Given the description of an element on the screen output the (x, y) to click on. 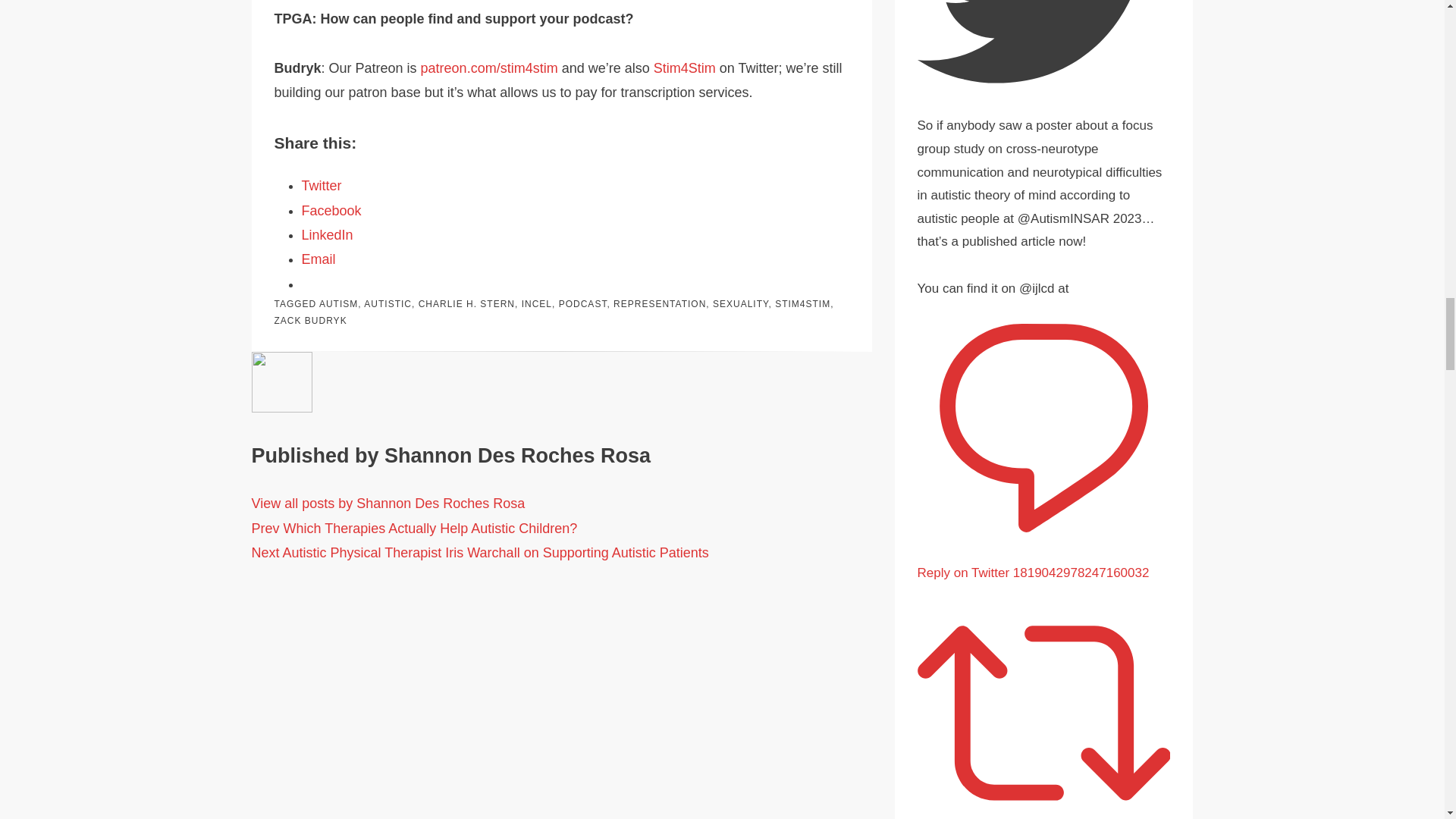
Twitter (321, 185)
Prev Which Therapies Actually Help Autistic Children? (414, 528)
SEXUALITY (740, 303)
Facebook (331, 210)
INCEL (536, 303)
Click to share on Twitter (321, 185)
REPRESENTATION (659, 303)
View all posts by Shannon Des Roches Rosa (388, 503)
ZACK BUDRYK (311, 320)
Stim4Stim (684, 68)
